Given the description of an element on the screen output the (x, y) to click on. 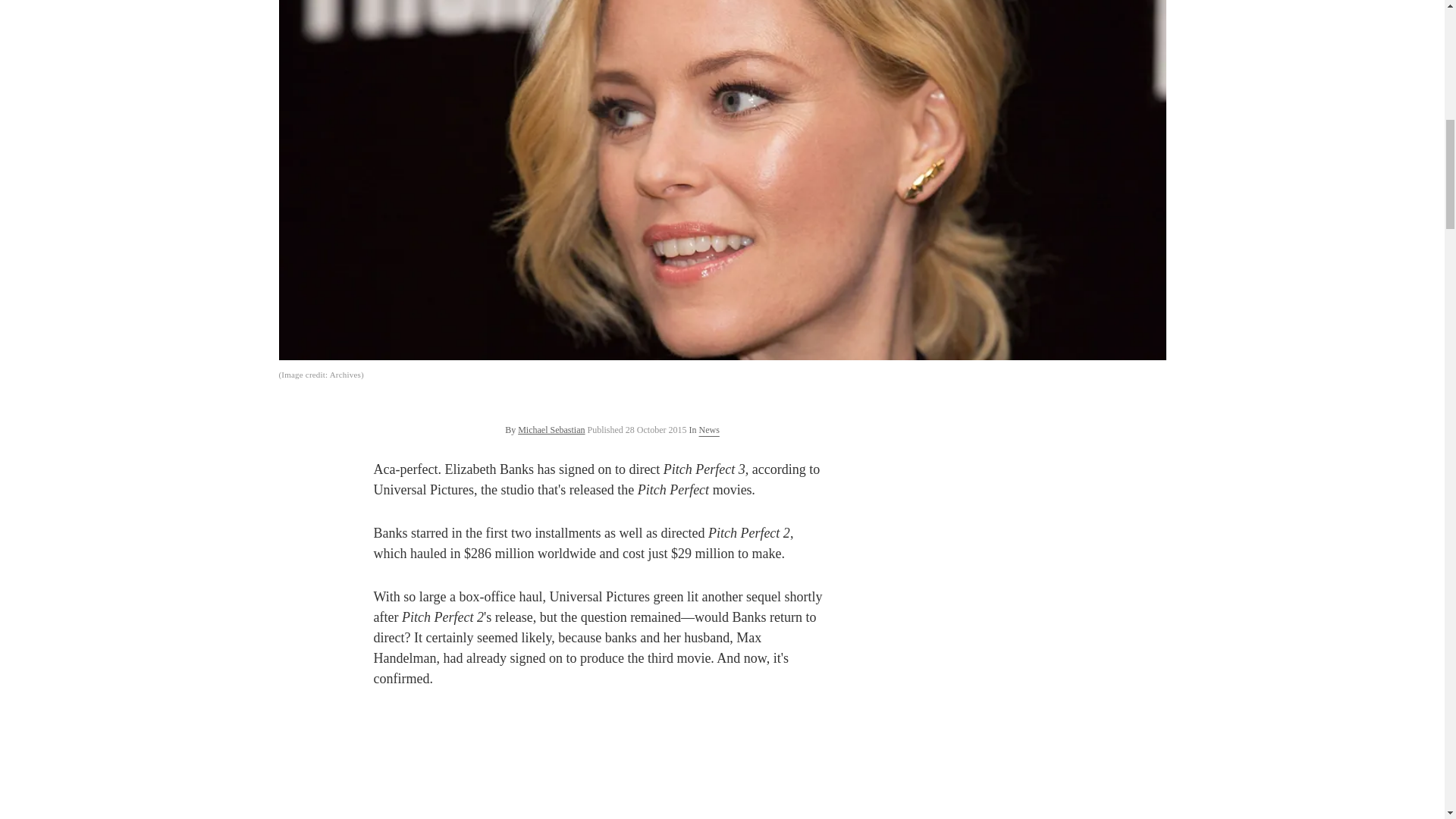
Michael Sebastian (551, 429)
News (708, 429)
